Given the description of an element on the screen output the (x, y) to click on. 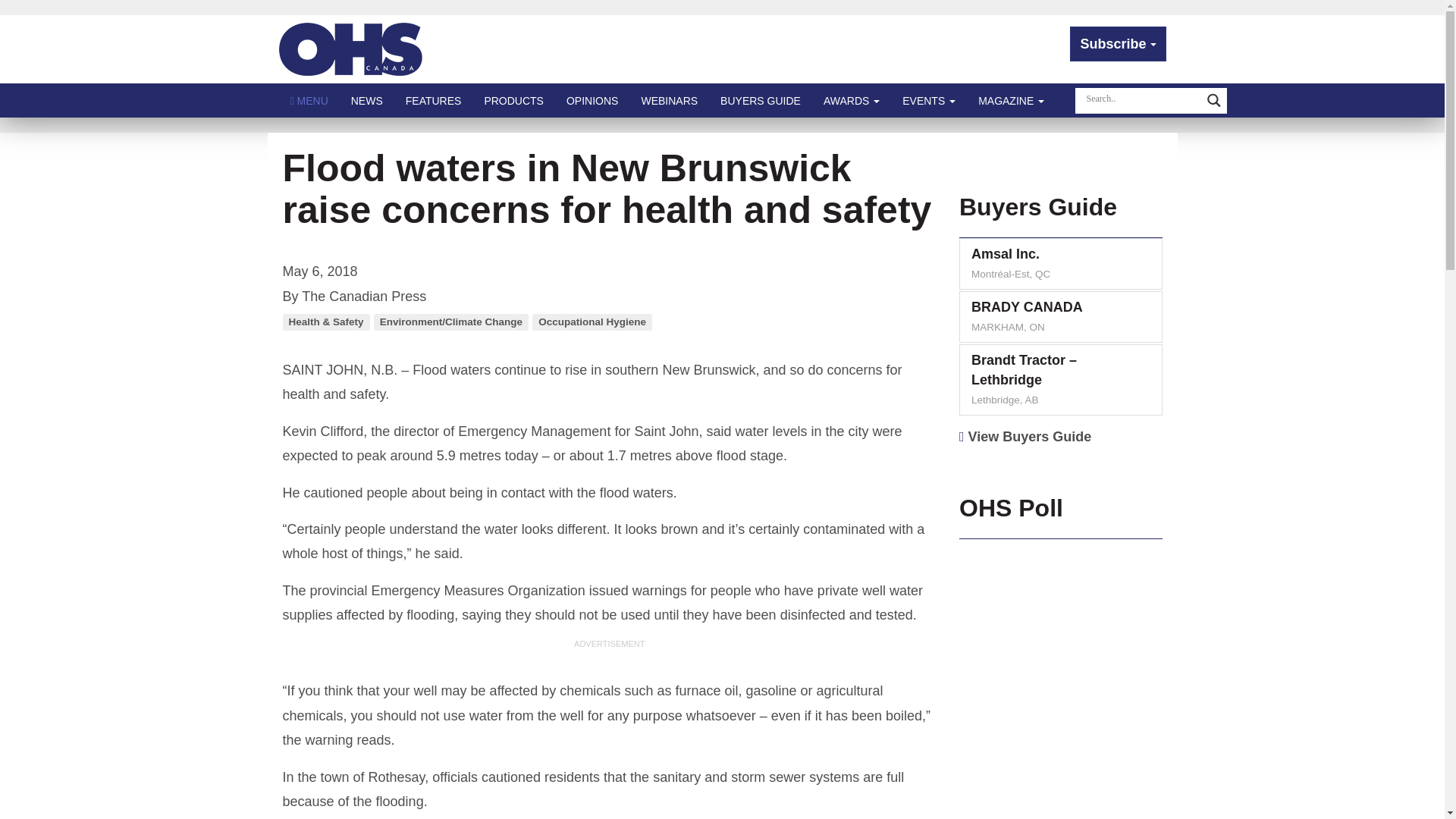
Subscribe (1118, 43)
Click to show site navigation (309, 100)
EVENTS (928, 100)
MAGAZINE (1010, 100)
WEBINARS (668, 100)
AWARDS (851, 100)
NEWS (366, 100)
PRODUCTS (512, 100)
FEATURES (433, 100)
MENU (309, 100)
OHS Canada Magazine (351, 48)
BUYERS GUIDE (760, 100)
OPINIONS (591, 100)
